Given the description of an element on the screen output the (x, y) to click on. 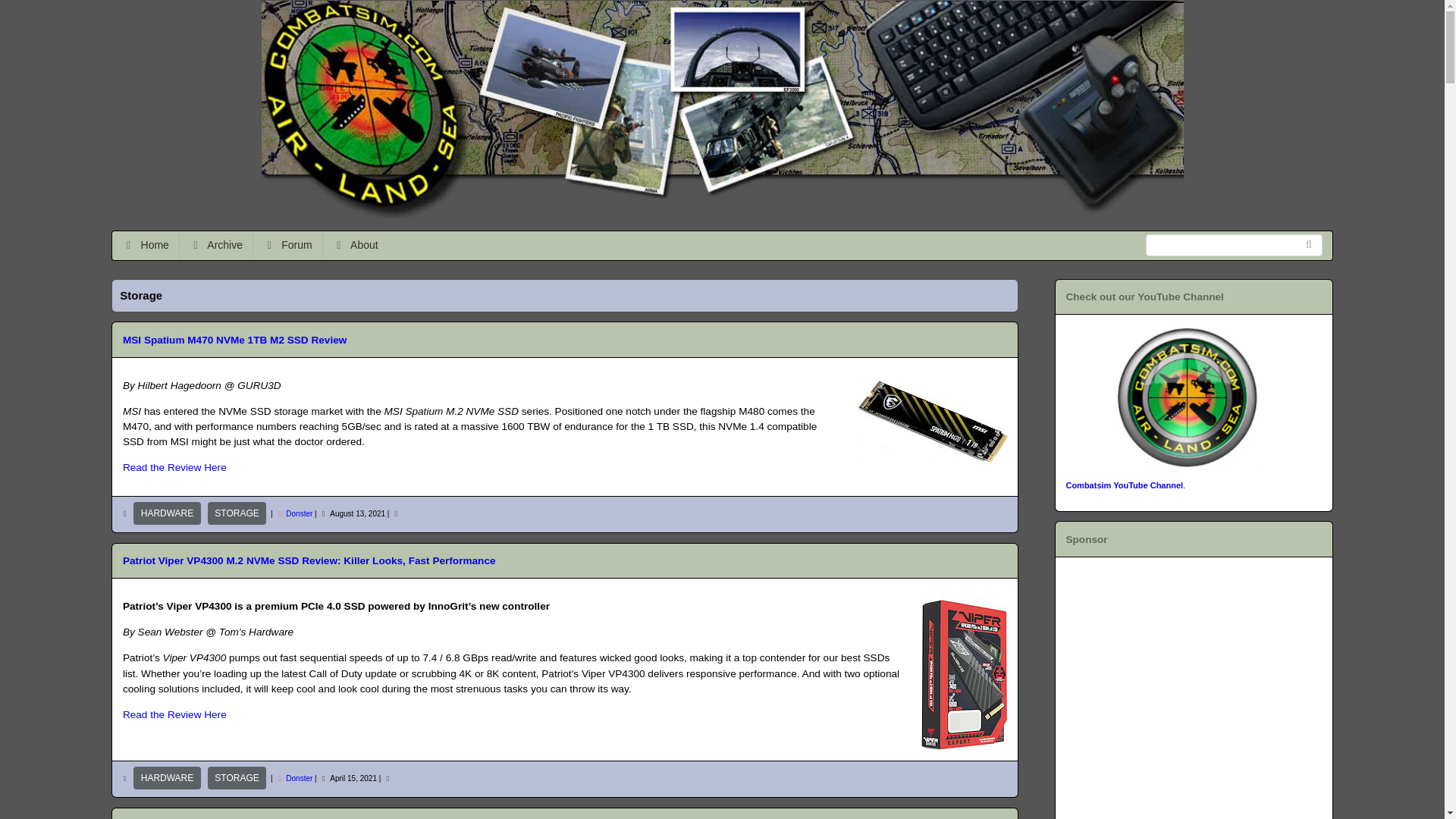
Archive (215, 245)
Read the Review Here (174, 714)
View all posts in Hardware (166, 513)
About (354, 245)
View all posts in Hardware (166, 777)
View all posts in Storage (237, 777)
STORAGE (237, 777)
Read the Review Here (174, 467)
Forum (286, 245)
HARDWARE (166, 777)
MSI Spatium M470 NVMe 1TB M2 SSD Review (234, 339)
View all posts in Storage (237, 513)
Home (145, 245)
STORAGE (237, 513)
Donster (299, 777)
